Given the description of an element on the screen output the (x, y) to click on. 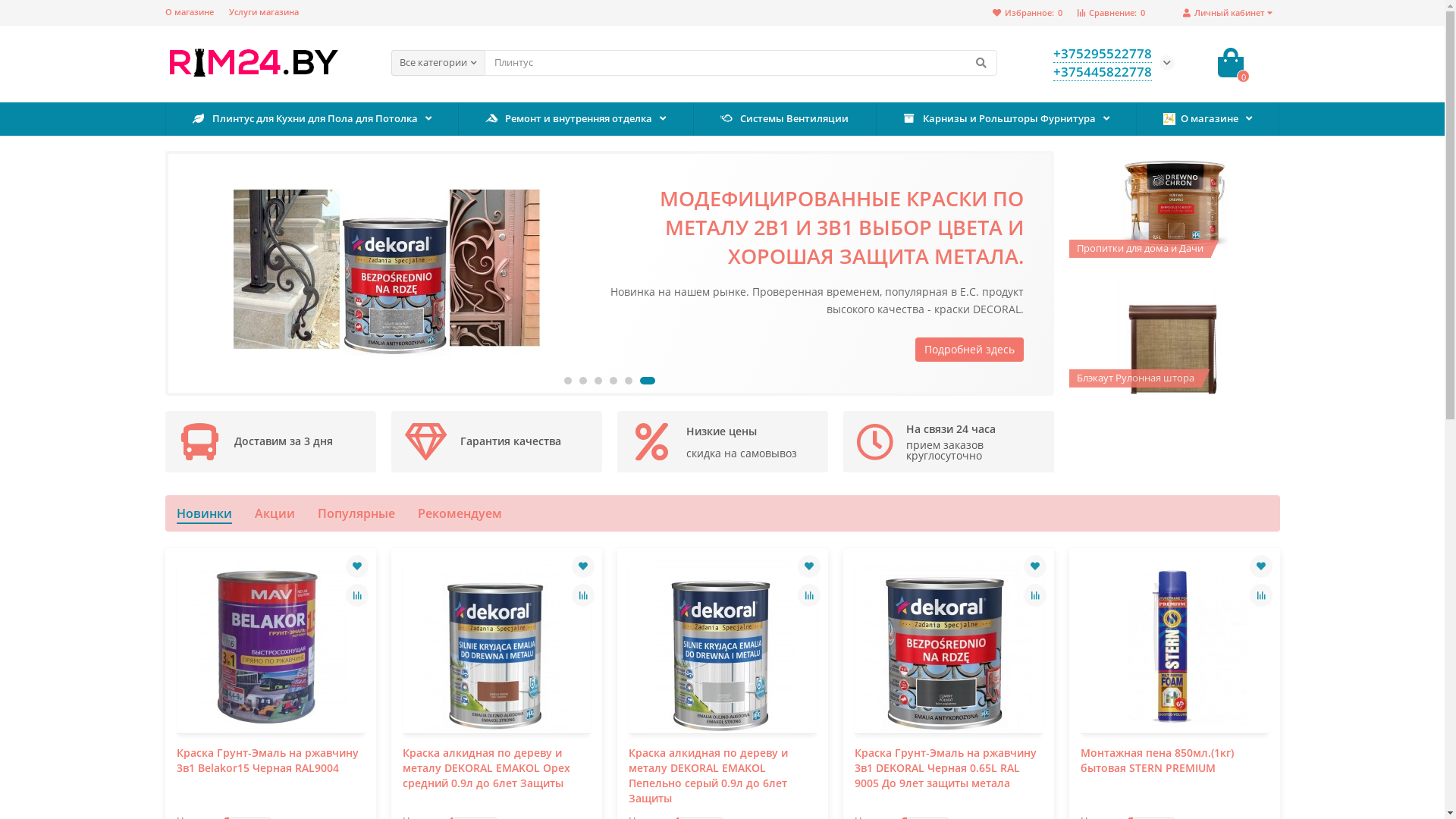
0 Element type: text (1230, 62)
Rim24.by Element type: hover (253, 62)
